Given the description of an element on the screen output the (x, y) to click on. 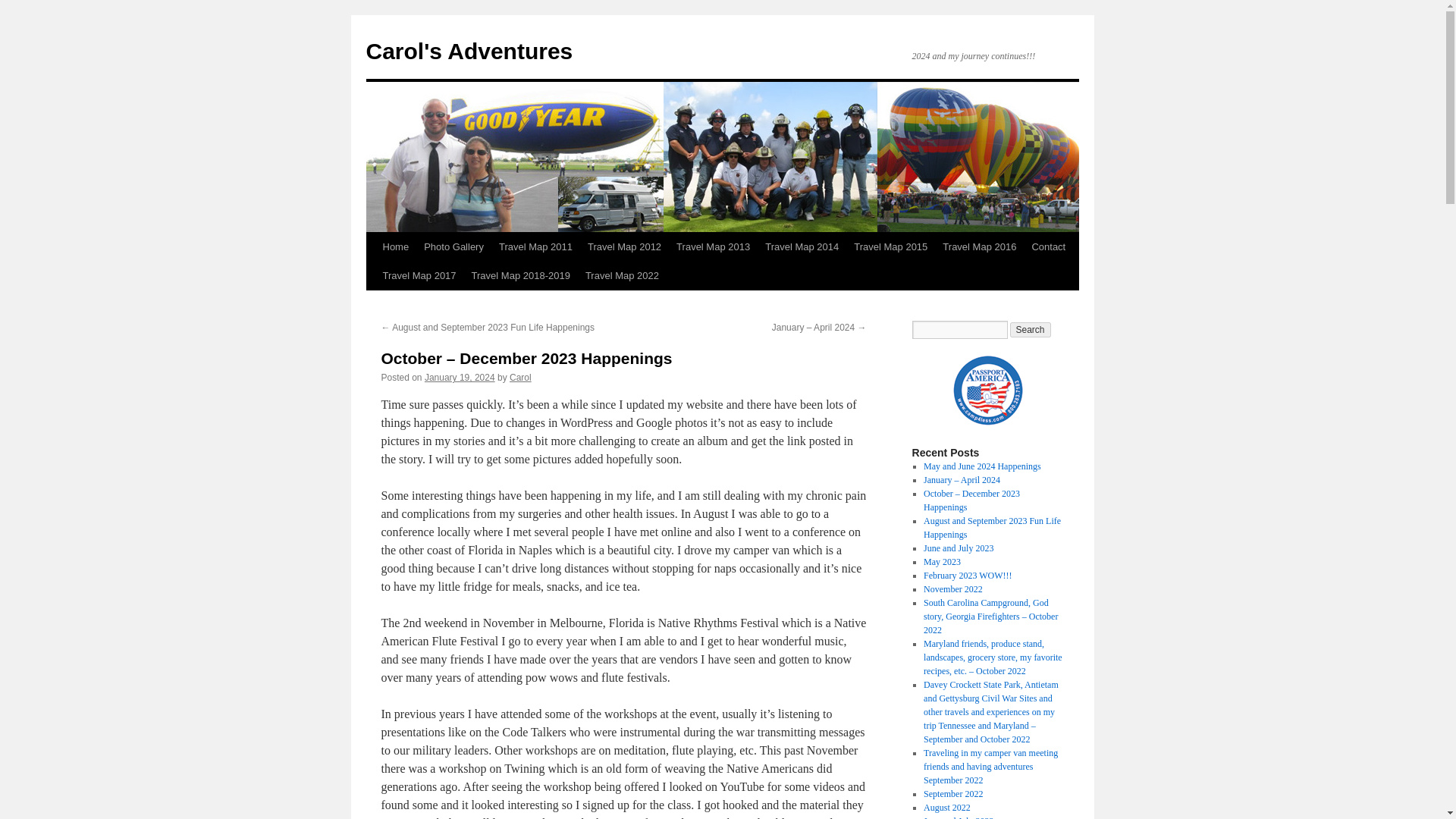
May and June 2024 Happenings (982, 466)
Travel Map 2011 (535, 246)
June and July 2023 (957, 547)
Search (1030, 329)
Travel Map 2013 (712, 246)
August 2022 (947, 807)
Carol (520, 377)
Contact (1048, 246)
August and September 2023 Fun Life Happenings (992, 527)
Travel Map 2022 (622, 275)
